Given the description of an element on the screen output the (x, y) to click on. 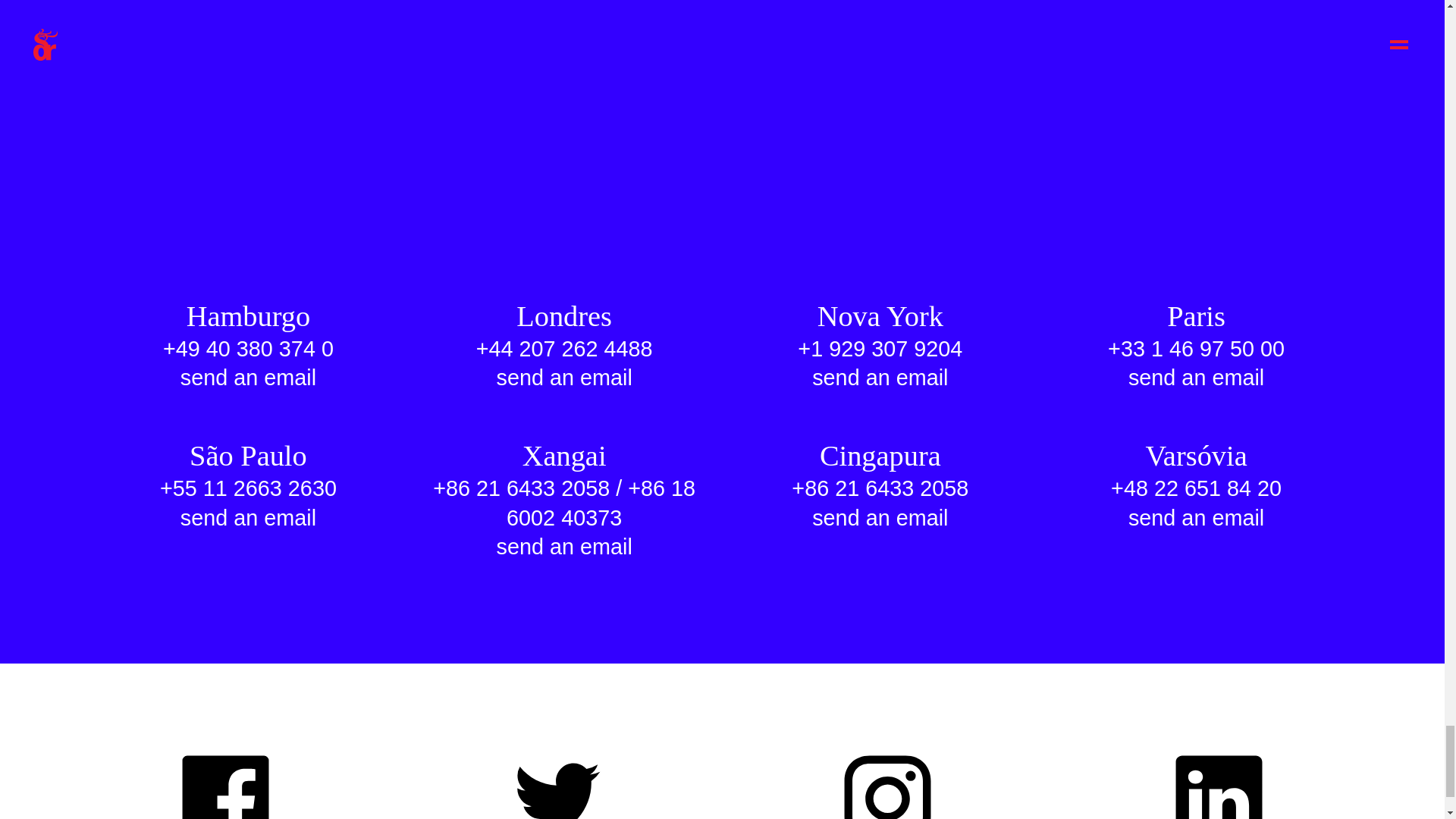
send an email (564, 377)
send an email (248, 377)
send an email (880, 377)
send an email (1196, 377)
